Given the description of an element on the screen output the (x, y) to click on. 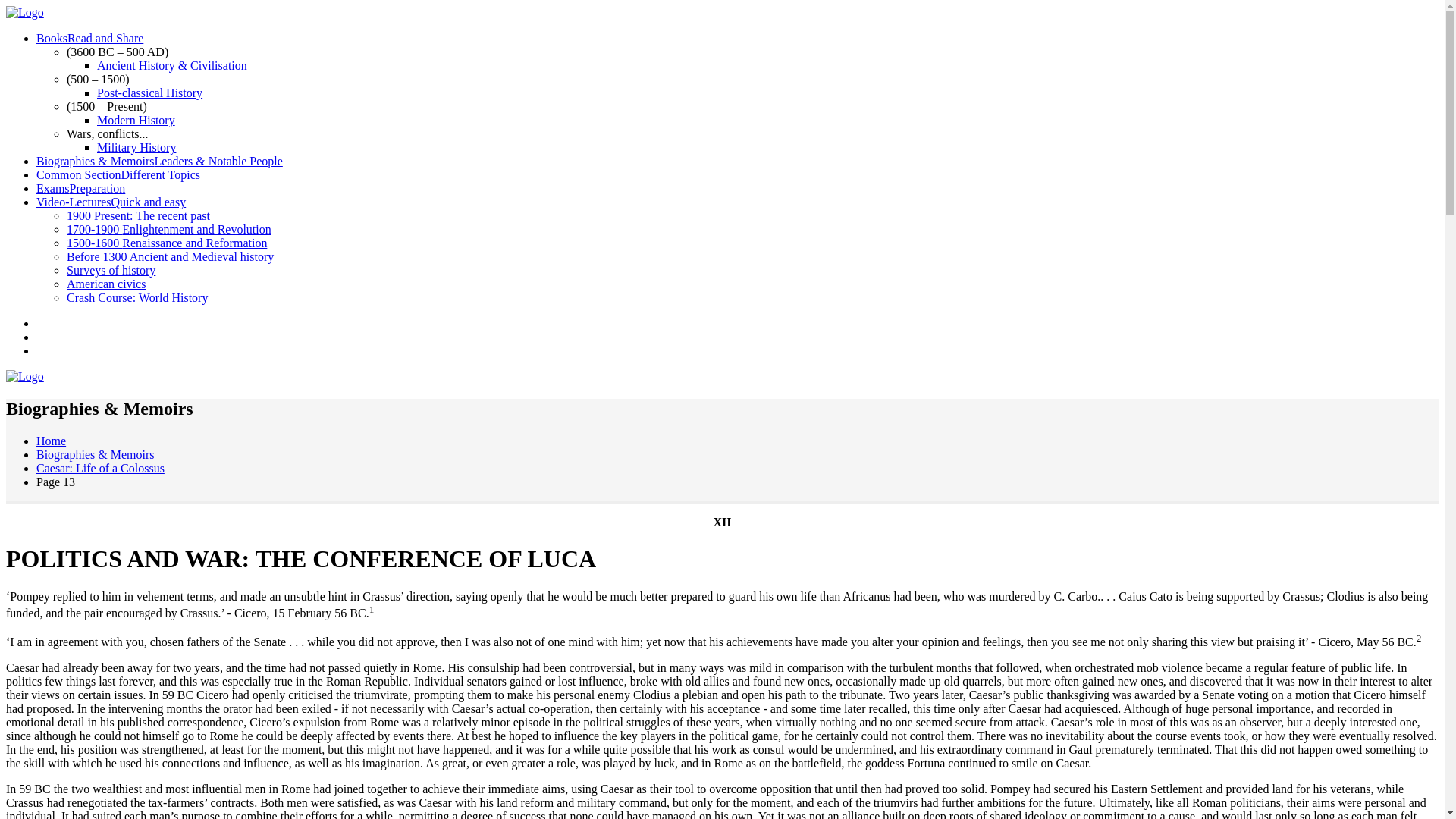
Post-classical History (149, 92)
ExamsPreparation (80, 187)
Before 1300 Ancient and Medieval history (169, 256)
BooksRead and Share (89, 38)
Modern History (135, 119)
Video-LecturesQuick and easy (111, 201)
1700-1900 Enlightenment and Revolution (168, 228)
Crash Course: World History (137, 297)
Caesar: Life of a Colossus (100, 468)
American civics (105, 283)
1500-1600 Renaissance and Reformation (166, 242)
1900 Present: The recent past (137, 215)
Home (50, 440)
Common SectionDifferent Topics (118, 174)
Surveys of history (110, 269)
